Given the description of an element on the screen output the (x, y) to click on. 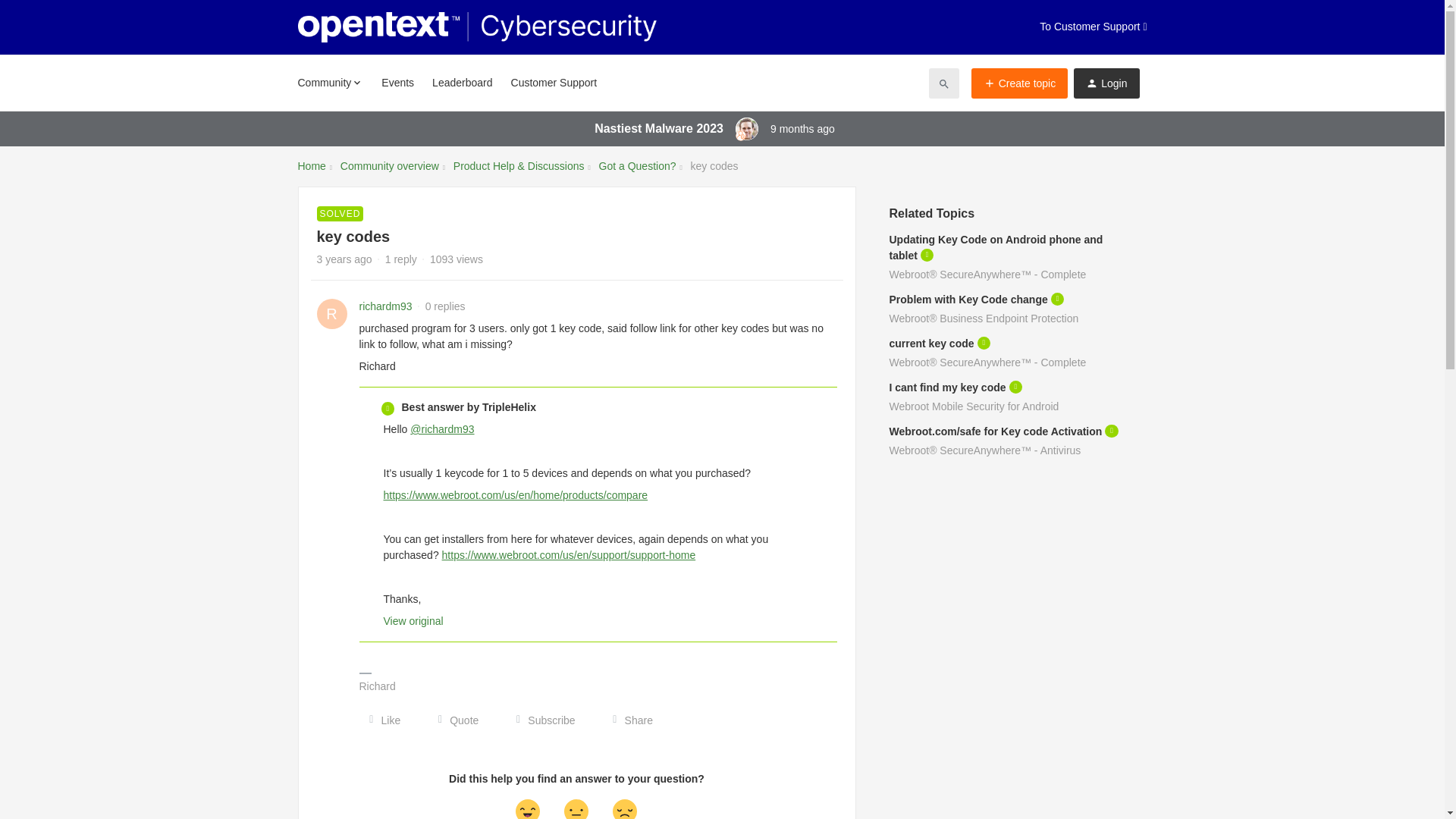
To Customer Support (1093, 26)
Community (329, 82)
